Given the description of an element on the screen output the (x, y) to click on. 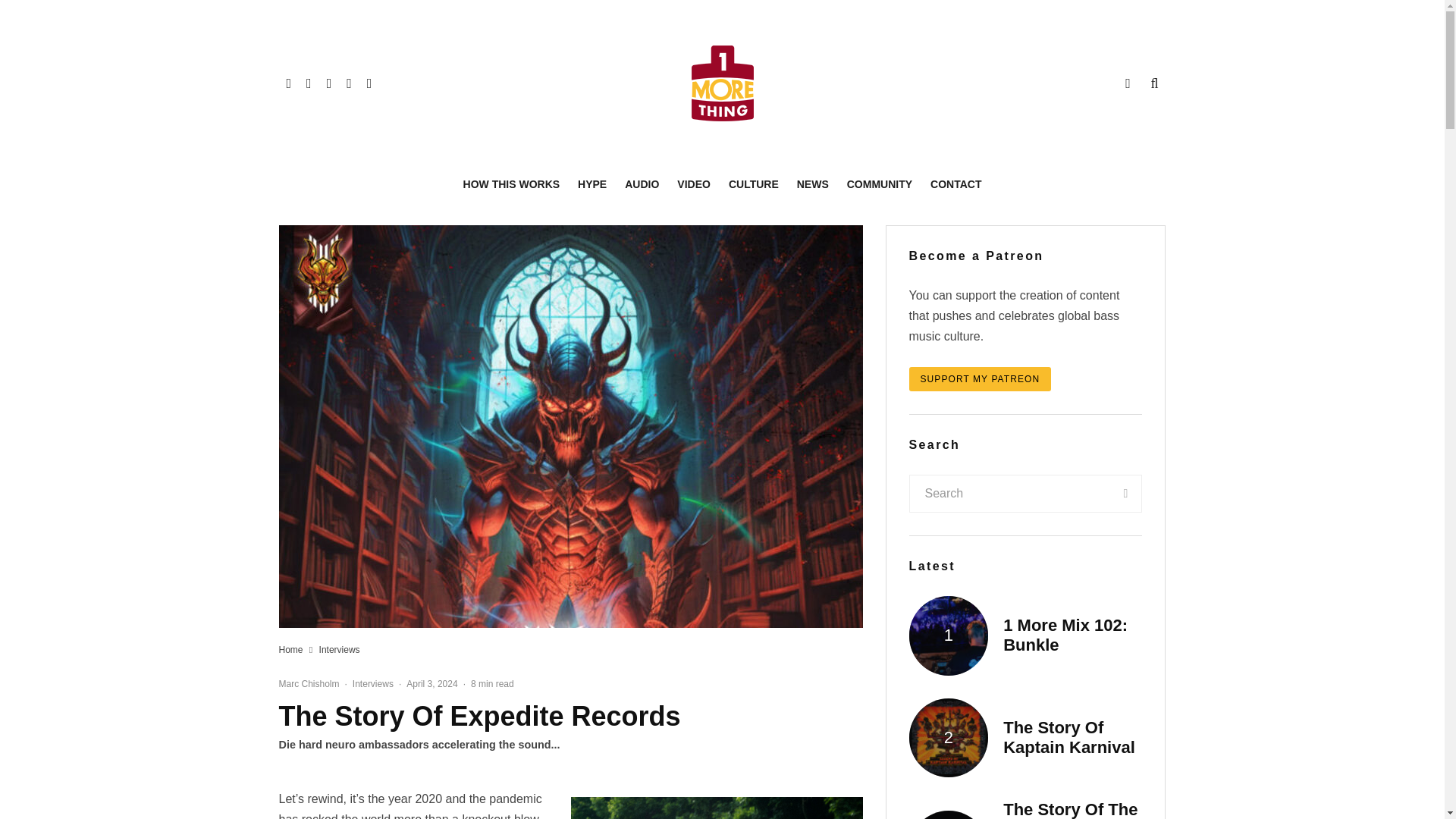
HYPE (592, 184)
VIDEO (693, 184)
HOW THIS WORKS (511, 184)
AUDIO (641, 184)
CULTURE (753, 184)
